Given the description of an element on the screen output the (x, y) to click on. 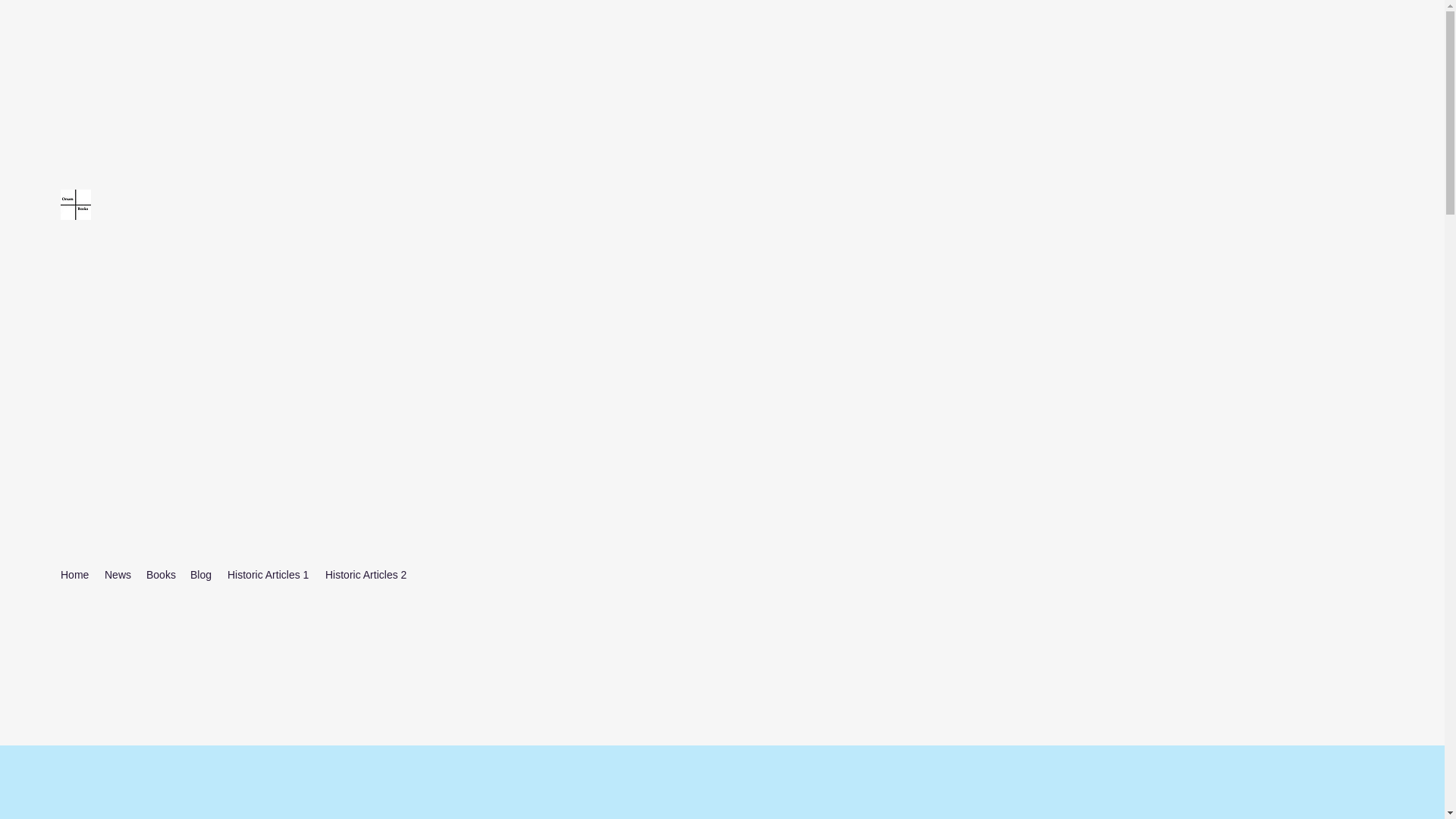
Blog (201, 574)
News (117, 574)
Home (74, 574)
